Given the description of an element on the screen output the (x, y) to click on. 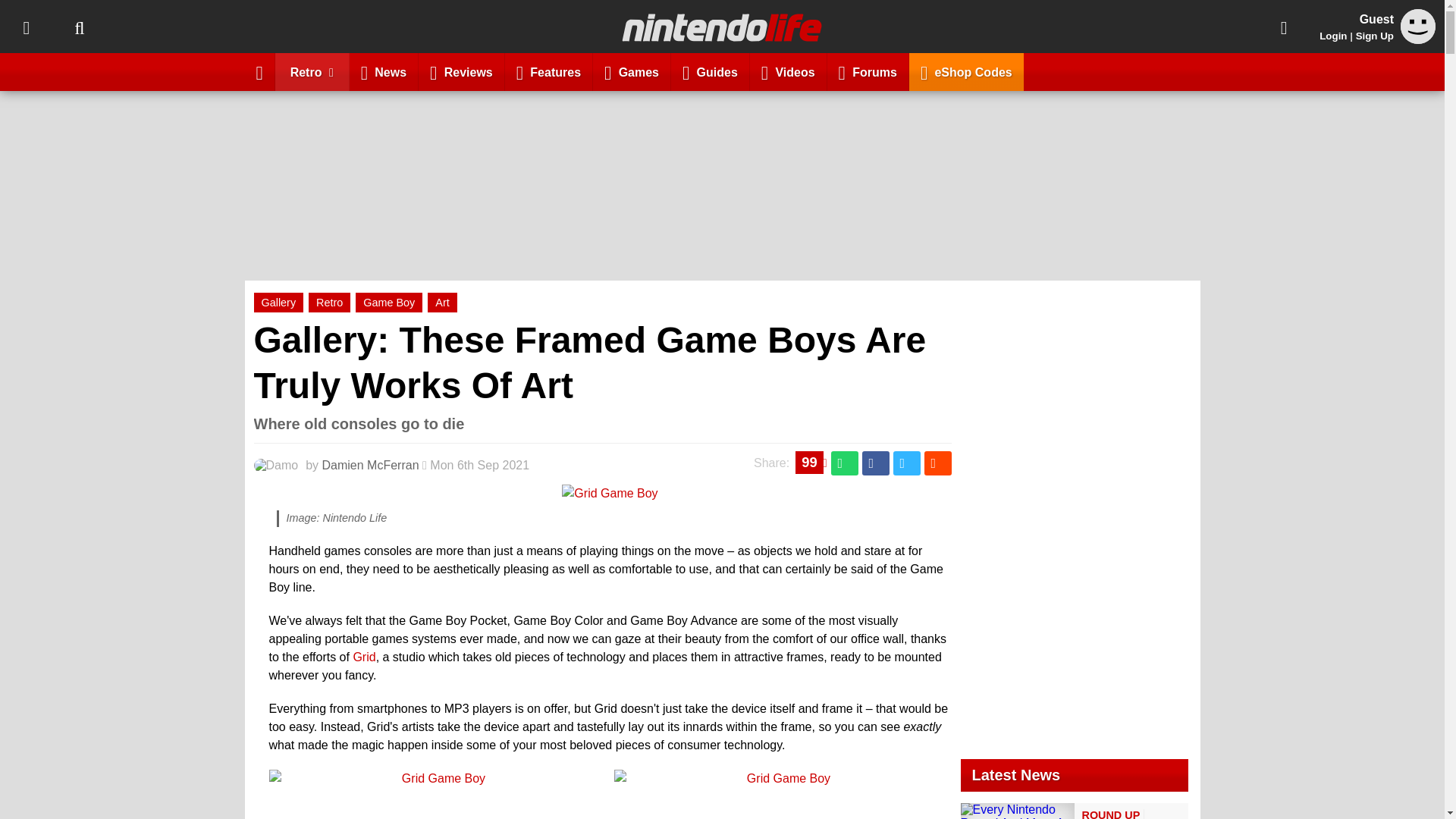
Share this on Reddit (936, 463)
eShop Codes (965, 71)
Games (631, 71)
Guides (710, 71)
Retro (312, 71)
Nintendo Life (721, 27)
Forums (867, 71)
Videos (788, 71)
Share this on Facebook (874, 463)
Grid Game Boy (610, 492)
Retro (329, 302)
Guest (1417, 26)
Search (79, 26)
Gallery (277, 302)
Share This Page (1283, 26)
